Given the description of an element on the screen output the (x, y) to click on. 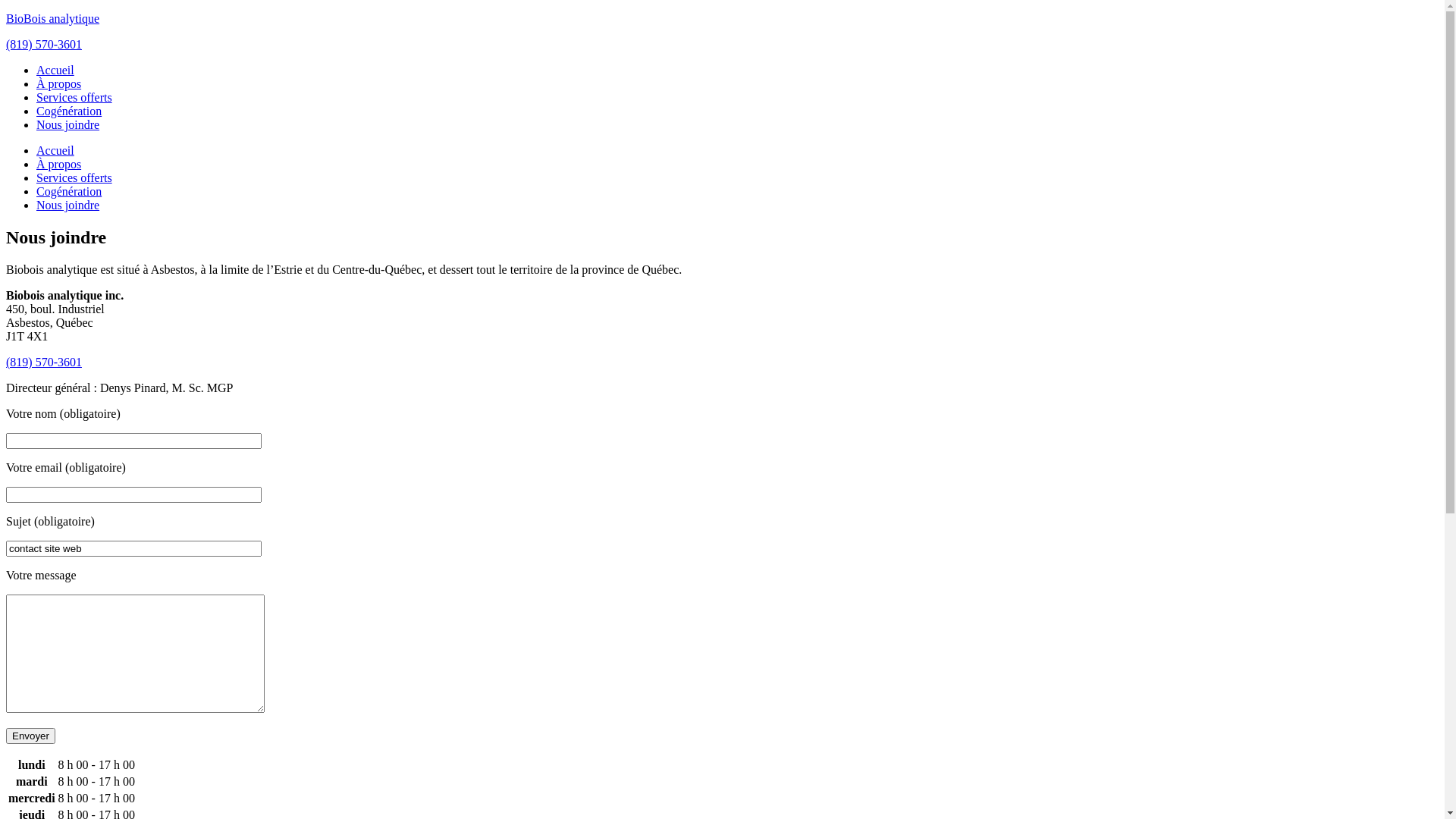
BioBois analytique Element type: text (52, 18)
Services offerts Element type: text (74, 97)
(819) 570-3601 Element type: text (43, 361)
Services offerts Element type: text (74, 177)
Envoyer Element type: text (30, 735)
(819) 570-3601 Element type: text (43, 43)
Nous joindre Element type: text (67, 124)
Nous joindre Element type: text (67, 204)
Accueil Element type: text (55, 69)
Accueil Element type: text (55, 150)
